Given the description of an element on the screen output the (x, y) to click on. 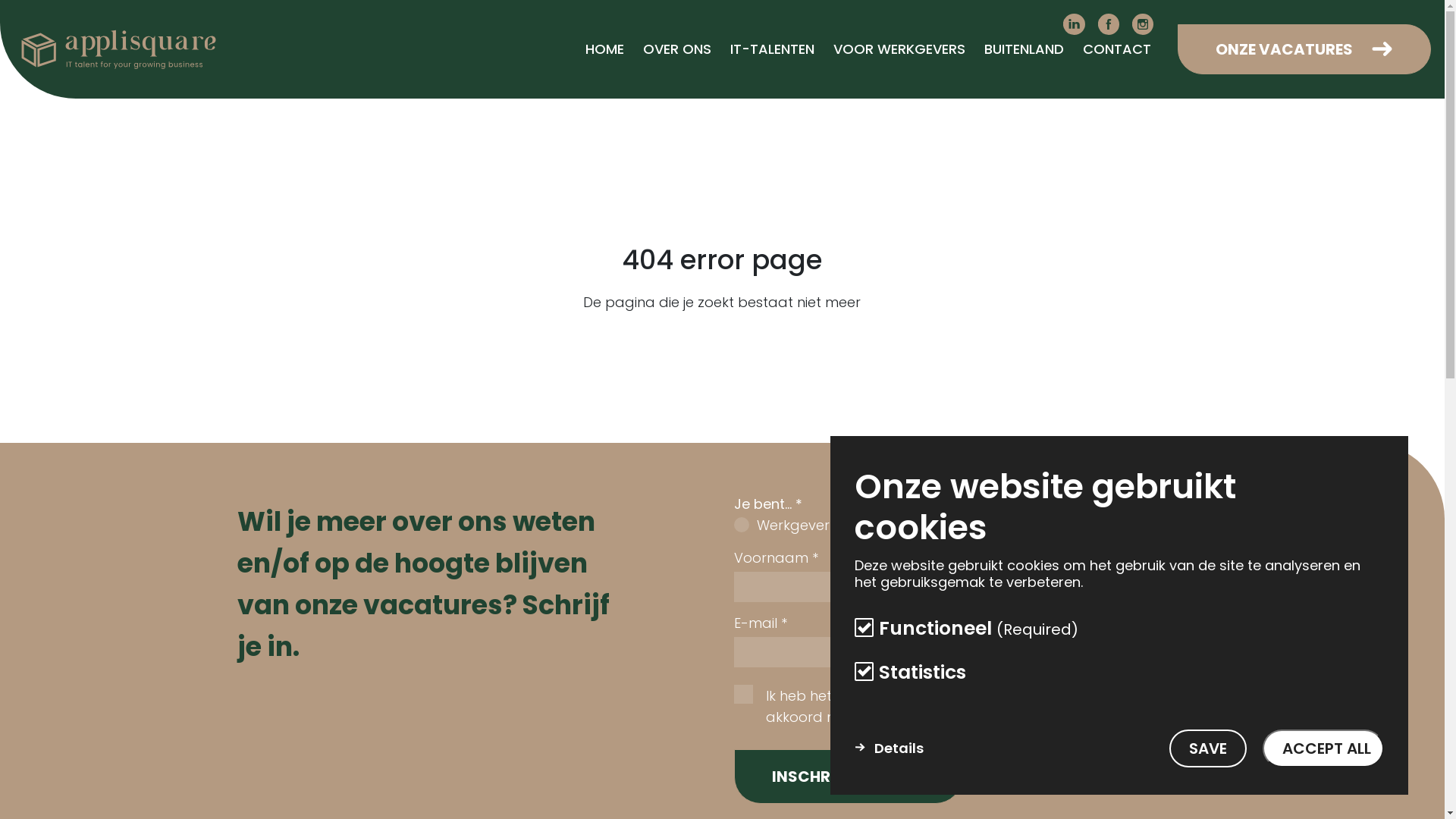
CONTACT Element type: text (1116, 48)
privacybeleid Element type: text (883, 695)
INSCHRIJVEN Element type: text (848, 776)
BUITENLAND Element type: text (1023, 48)
VOOR WERKGEVERS Element type: text (899, 48)
ACCEPT ALL Element type: text (1322, 748)
Details Element type: text (888, 748)
HOME Element type: text (604, 48)
IT-TALENTEN Element type: text (772, 48)
OVER ONS Element type: text (677, 48)
ONZE VACATURES Element type: text (1303, 49)
SAVE Element type: text (1207, 748)
